Given the description of an element on the screen output the (x, y) to click on. 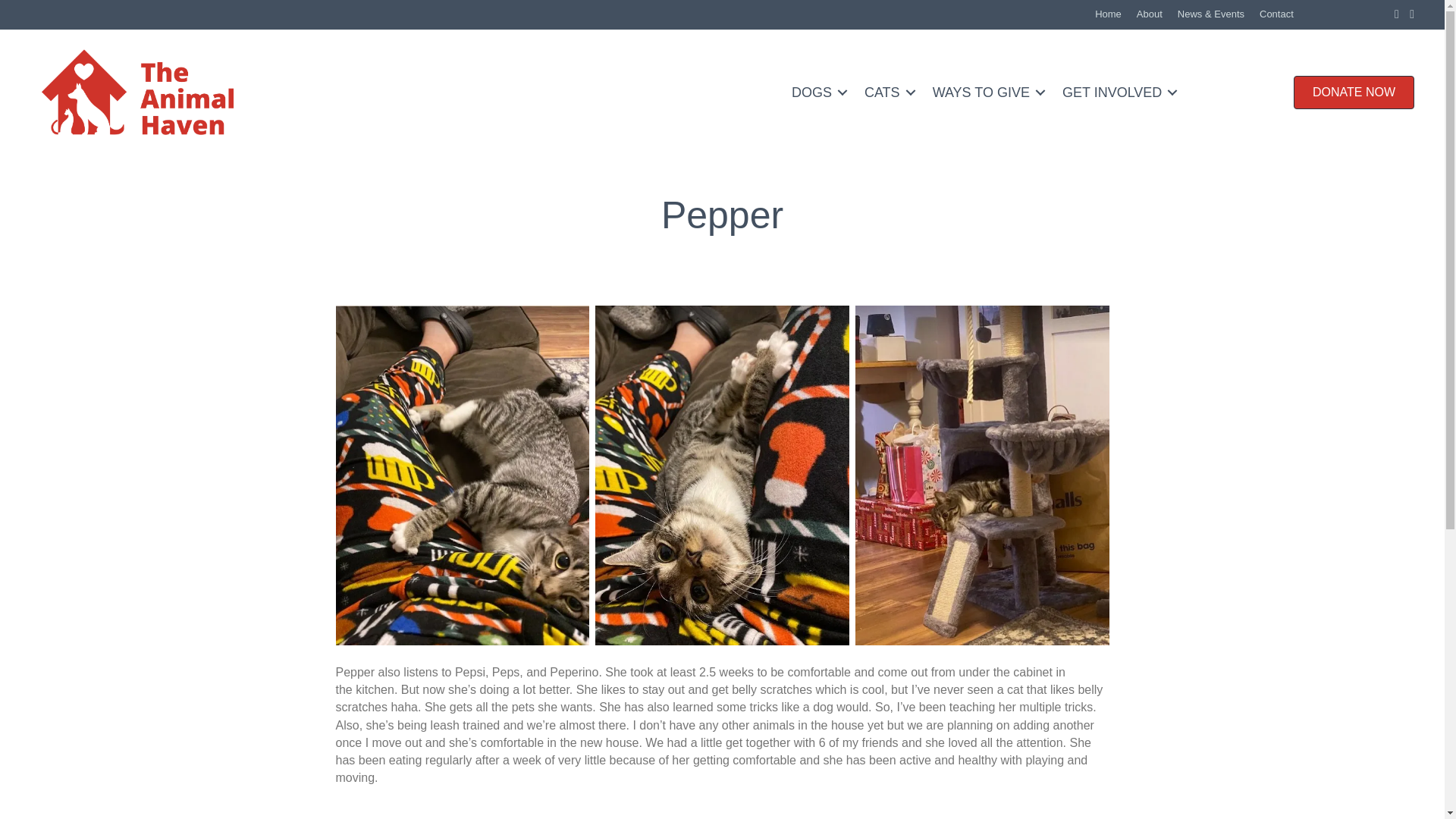
About (1149, 14)
GET INVOLVED (1116, 92)
WAYS TO GIVE (986, 92)
DOGS (816, 92)
Contact (1276, 14)
Home (1108, 14)
DONATE NOW (1353, 92)
CATS (887, 92)
